Given the description of an element on the screen output the (x, y) to click on. 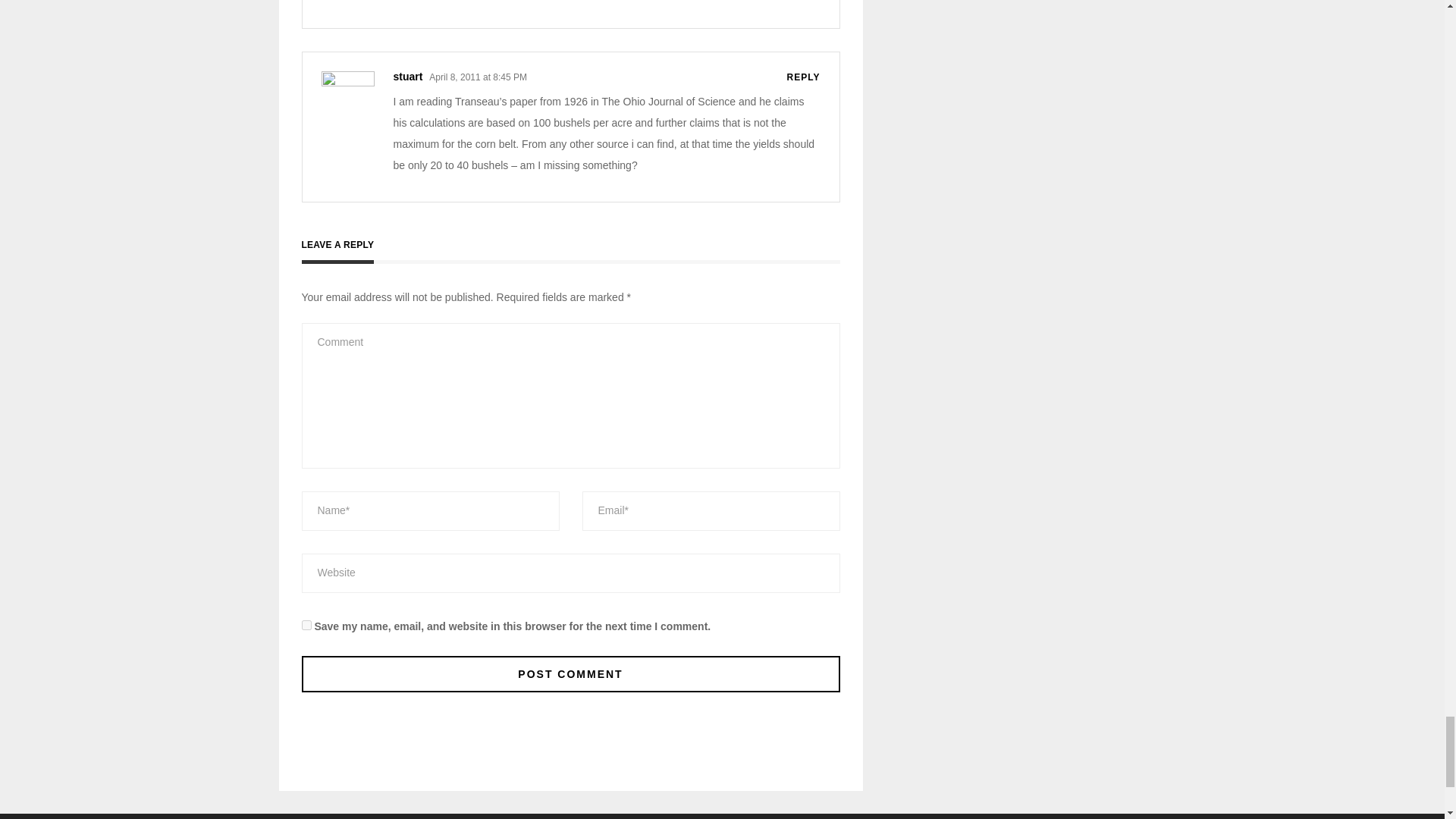
Post Comment (570, 674)
yes (306, 624)
